Given the description of an element on the screen output the (x, y) to click on. 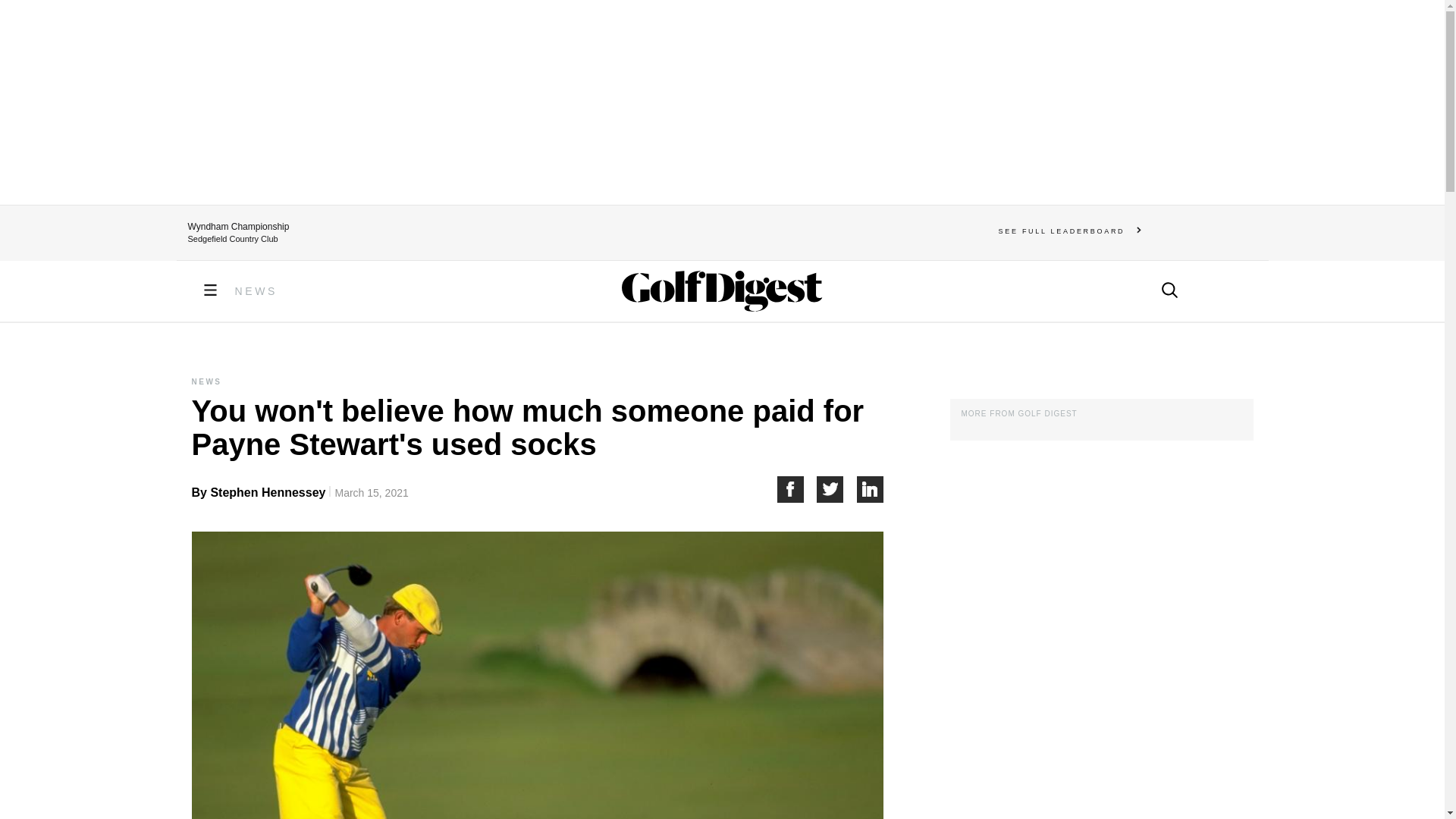
NEWS (256, 291)
Share on Facebook (796, 488)
SEE FULL LEADERBOARD (1069, 230)
Share on LinkedIn (870, 488)
Share on Twitter (836, 488)
